Given the description of an element on the screen output the (x, y) to click on. 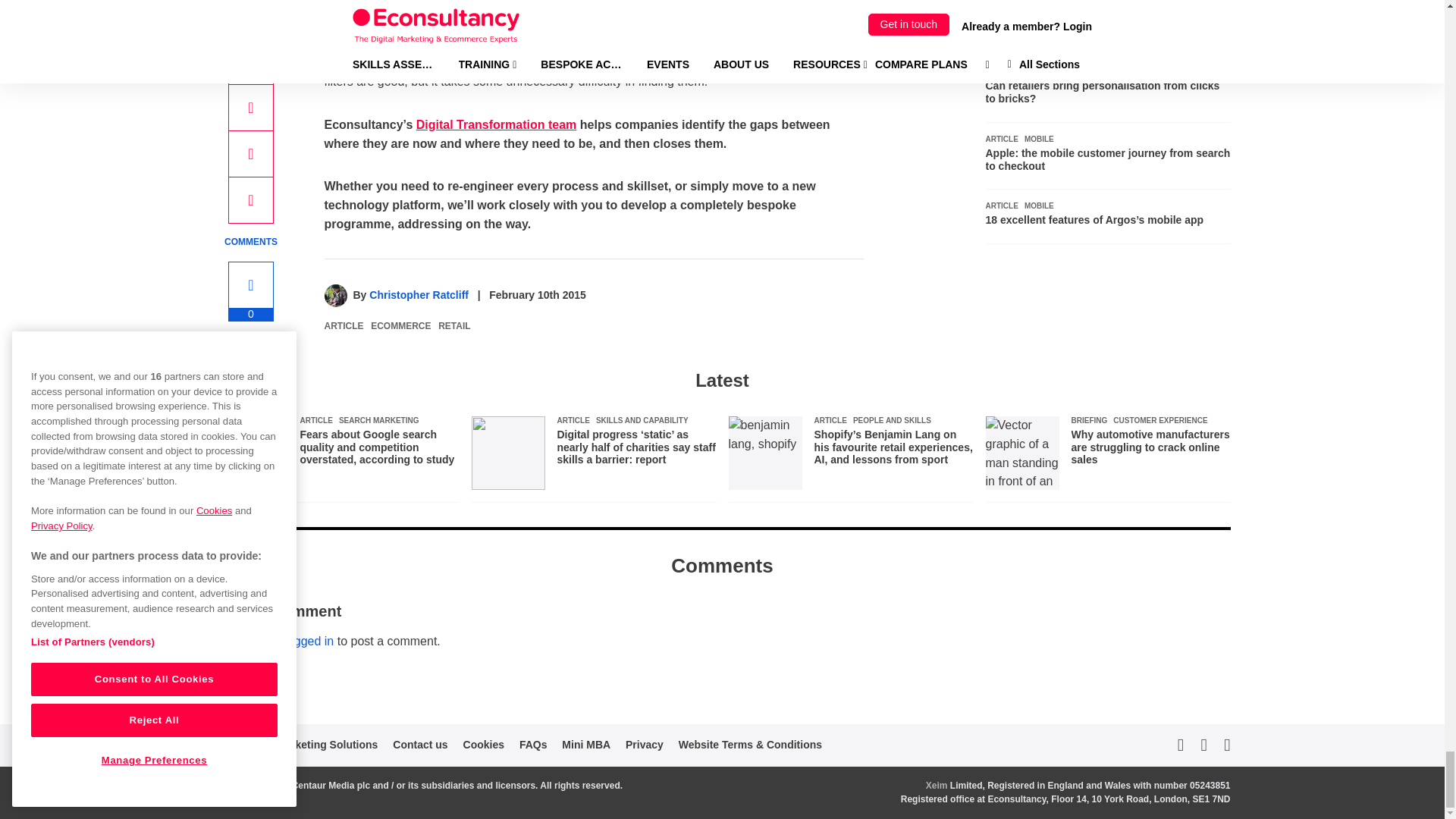
Posts by Christopher Ratcliff (418, 295)
